Given the description of an element on the screen output the (x, y) to click on. 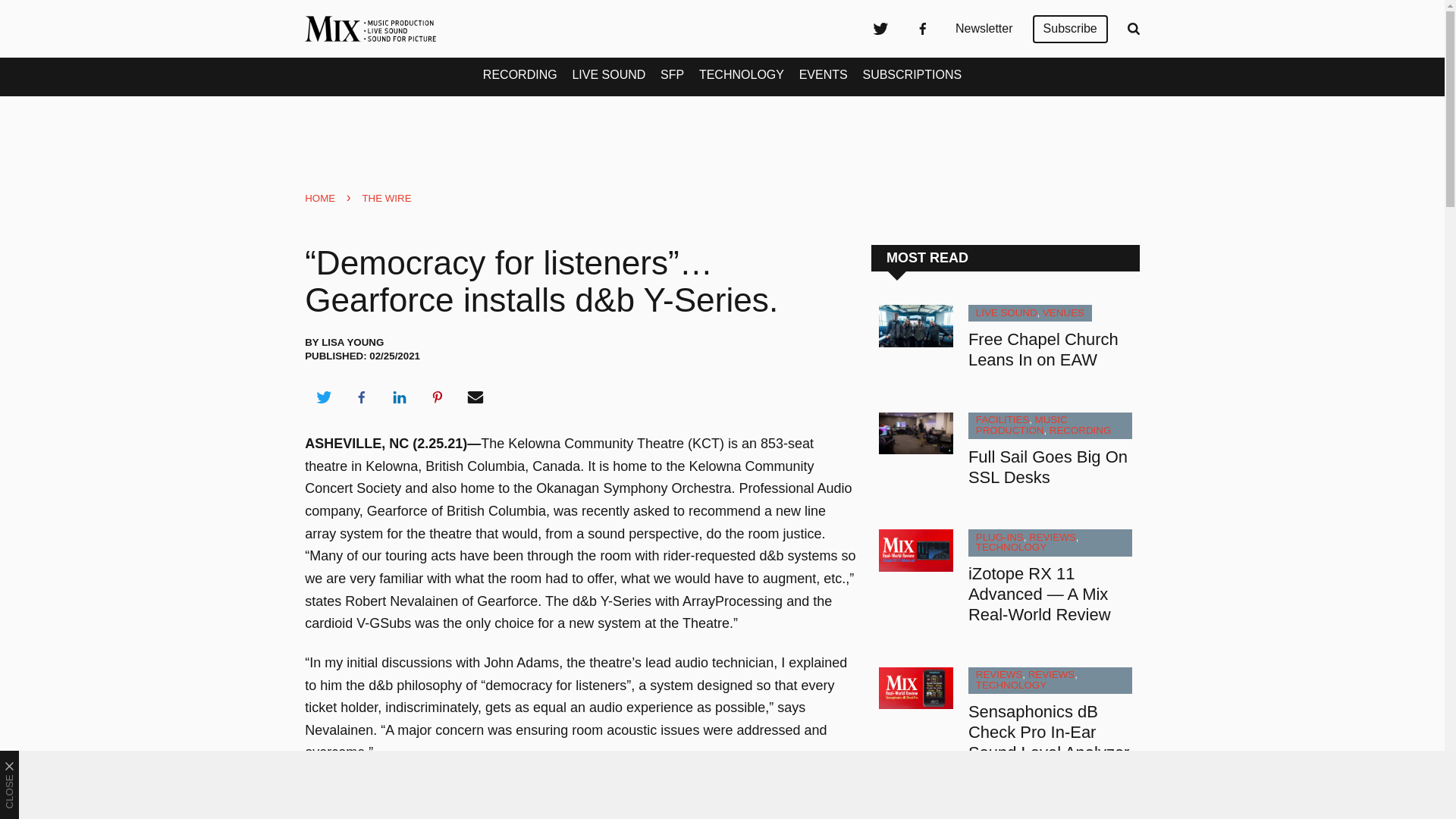
Share on LinkedIn (399, 397)
Share on Twitter (323, 397)
Share via Email (476, 397)
Share on Pinterest (438, 397)
Share on Facebook (361, 397)
